Given the description of an element on the screen output the (x, y) to click on. 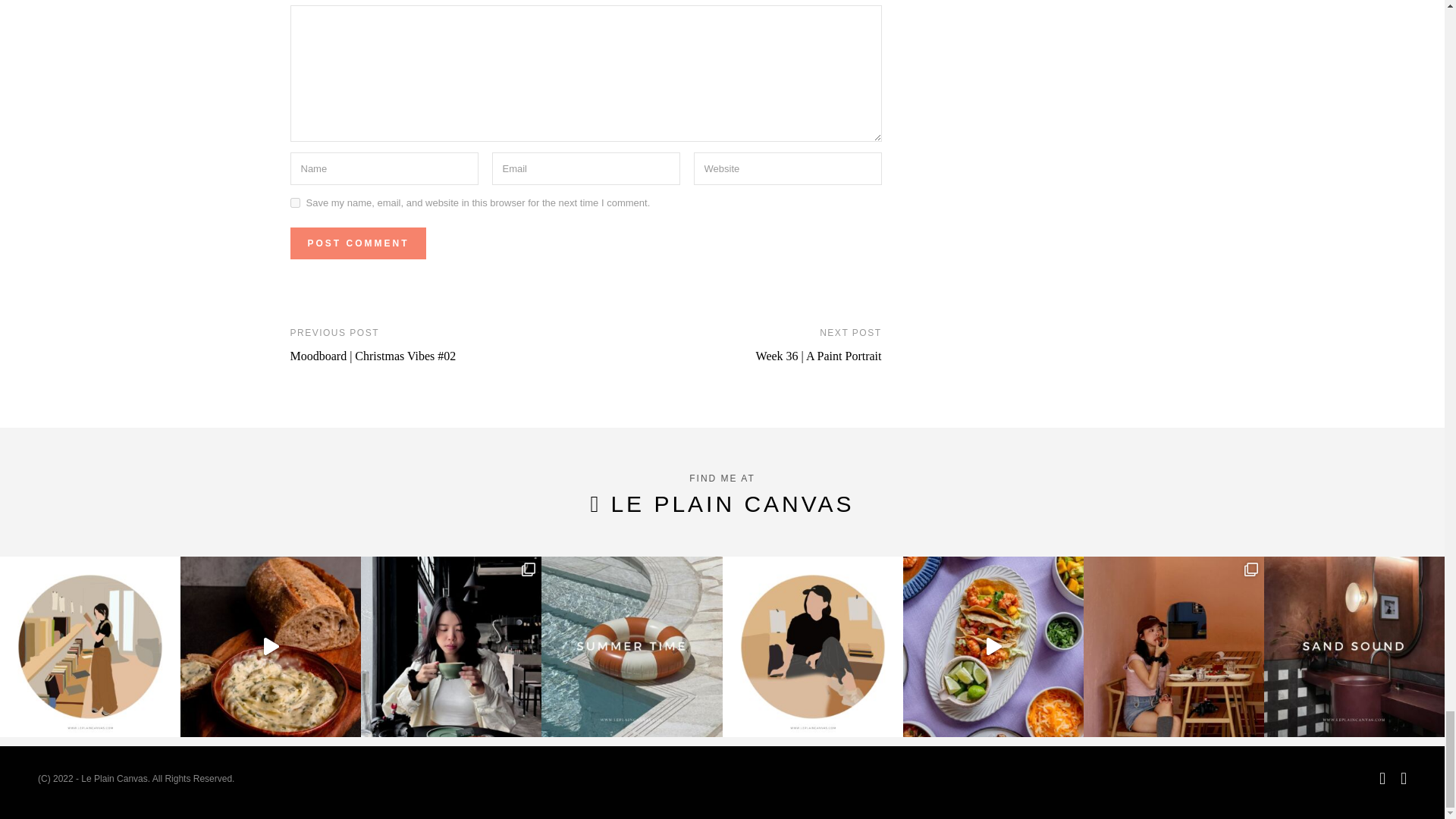
yes (294, 203)
Post Comment (357, 243)
